Given the description of an element on the screen output the (x, y) to click on. 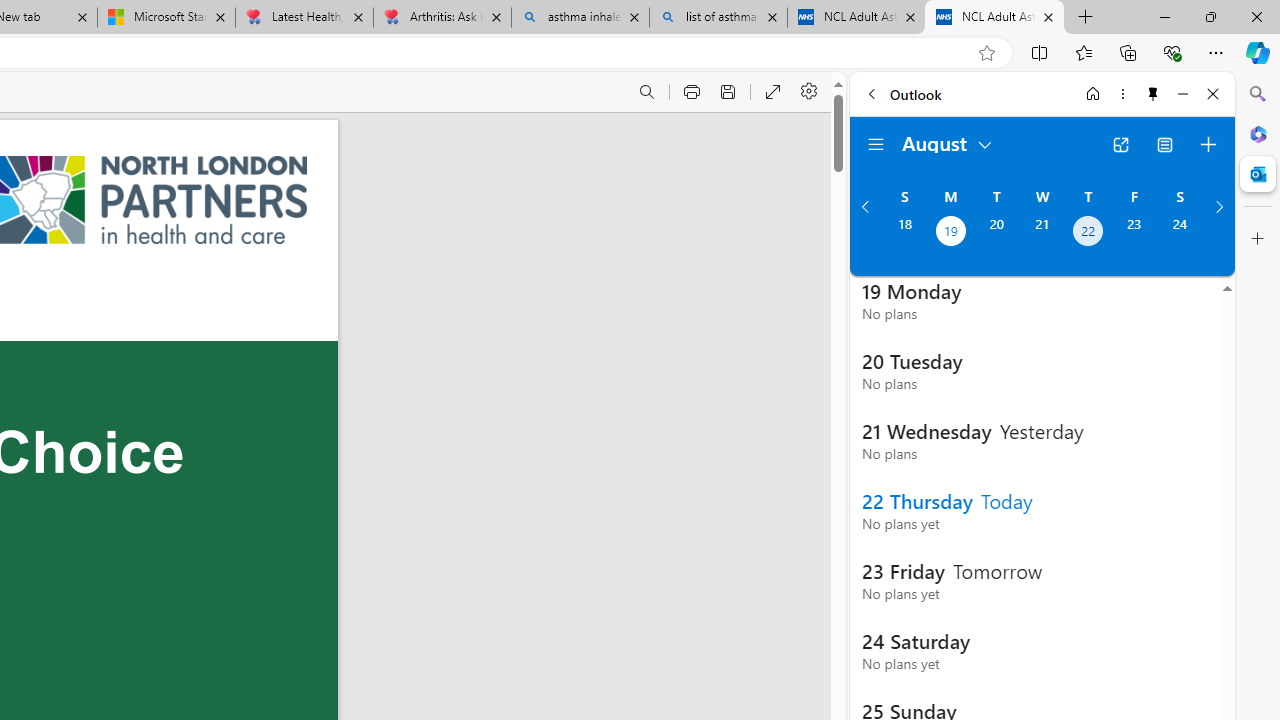
Find (Ctrl + F) (646, 92)
